Given the description of an element on the screen output the (x, y) to click on. 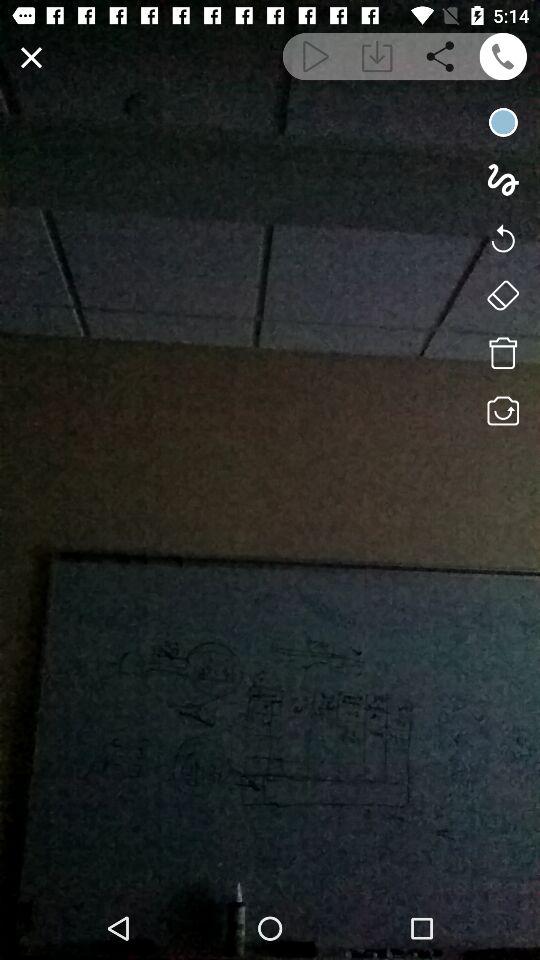
eraser (502, 295)
